Given the description of an element on the screen output the (x, y) to click on. 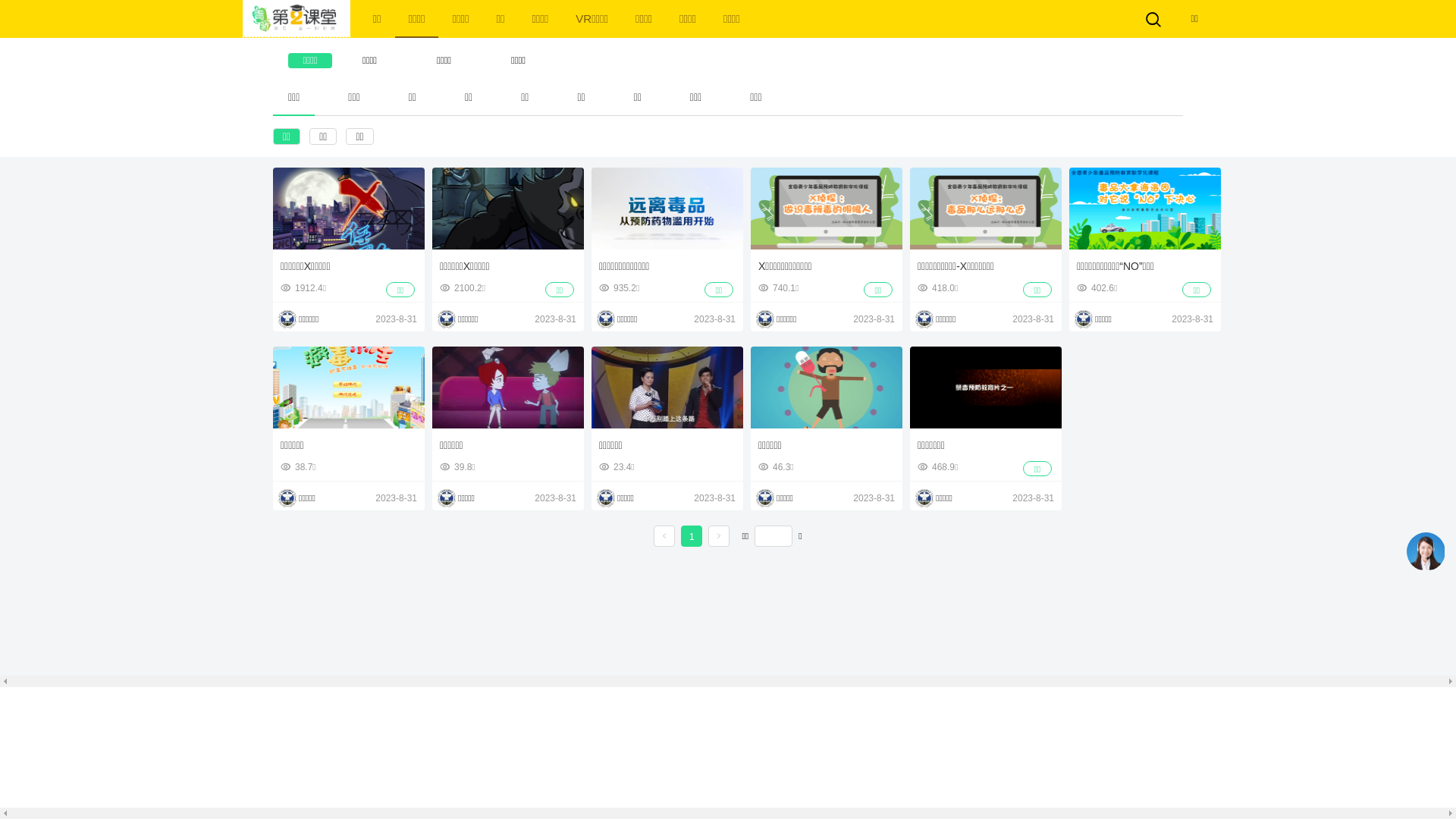
1 Element type: text (691, 536)
